Given the description of an element on the screen output the (x, y) to click on. 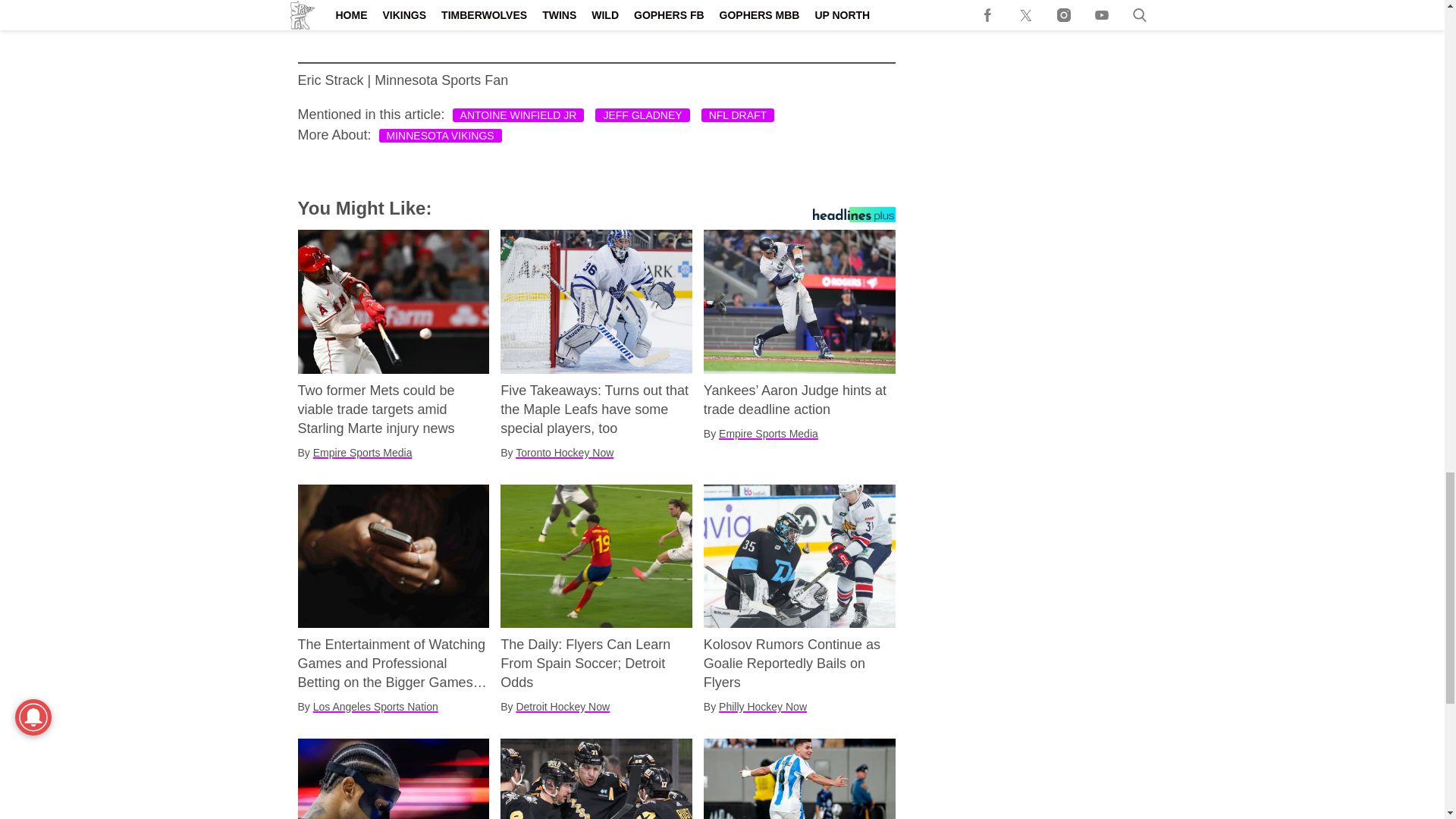
Empire Sports Media (362, 452)
JEFF GLADNEY (641, 115)
Toronto Hockey Now (563, 452)
ANTOINE WINFIELD JR (518, 115)
MINNESOTA VIKINGS (440, 135)
NFL DRAFT (737, 115)
